Given the description of an element on the screen output the (x, y) to click on. 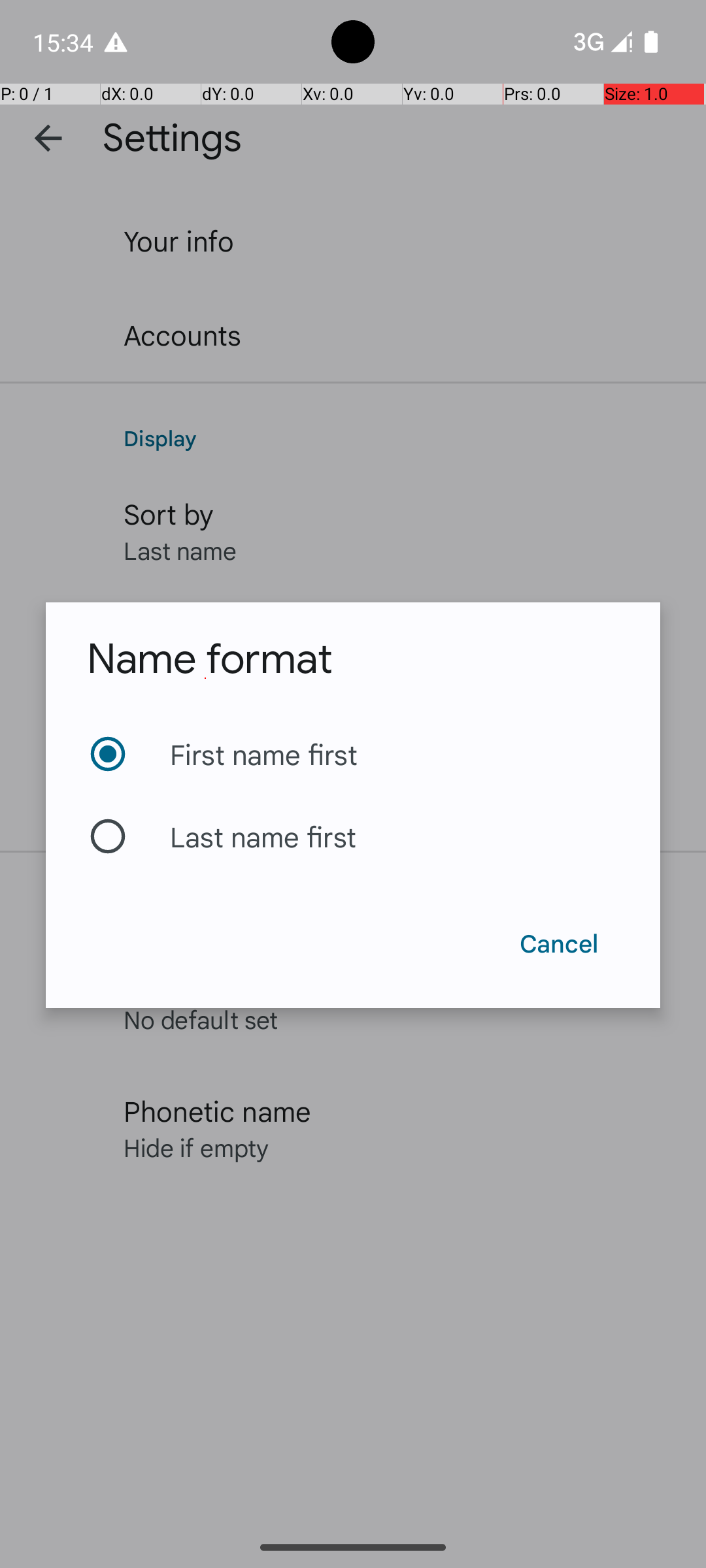
Name format Element type: android.widget.TextView (209, 659)
First name first Element type: android.widget.CheckedTextView (352, 753)
Last name first Element type: android.widget.CheckedTextView (352, 836)
